Given the description of an element on the screen output the (x, y) to click on. 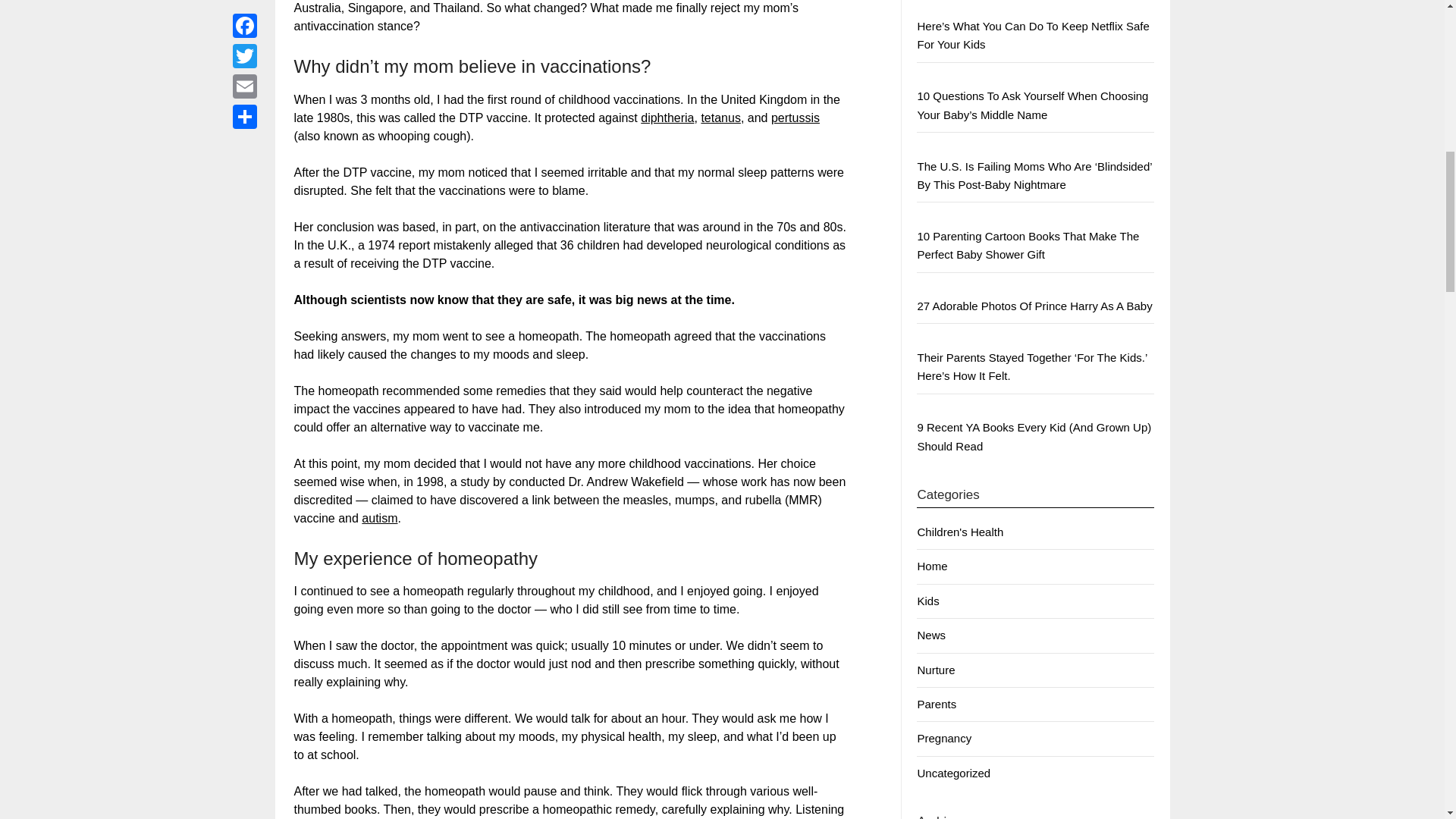
diphtheria (667, 117)
What is Autism? (379, 517)
tetanus (719, 117)
pertussis (795, 117)
autism (379, 517)
Whooping cough: What you should know (795, 117)
Everything you need to know about diphtheria (667, 117)
Everything you need to know about tetanus (719, 117)
